Given the description of an element on the screen output the (x, y) to click on. 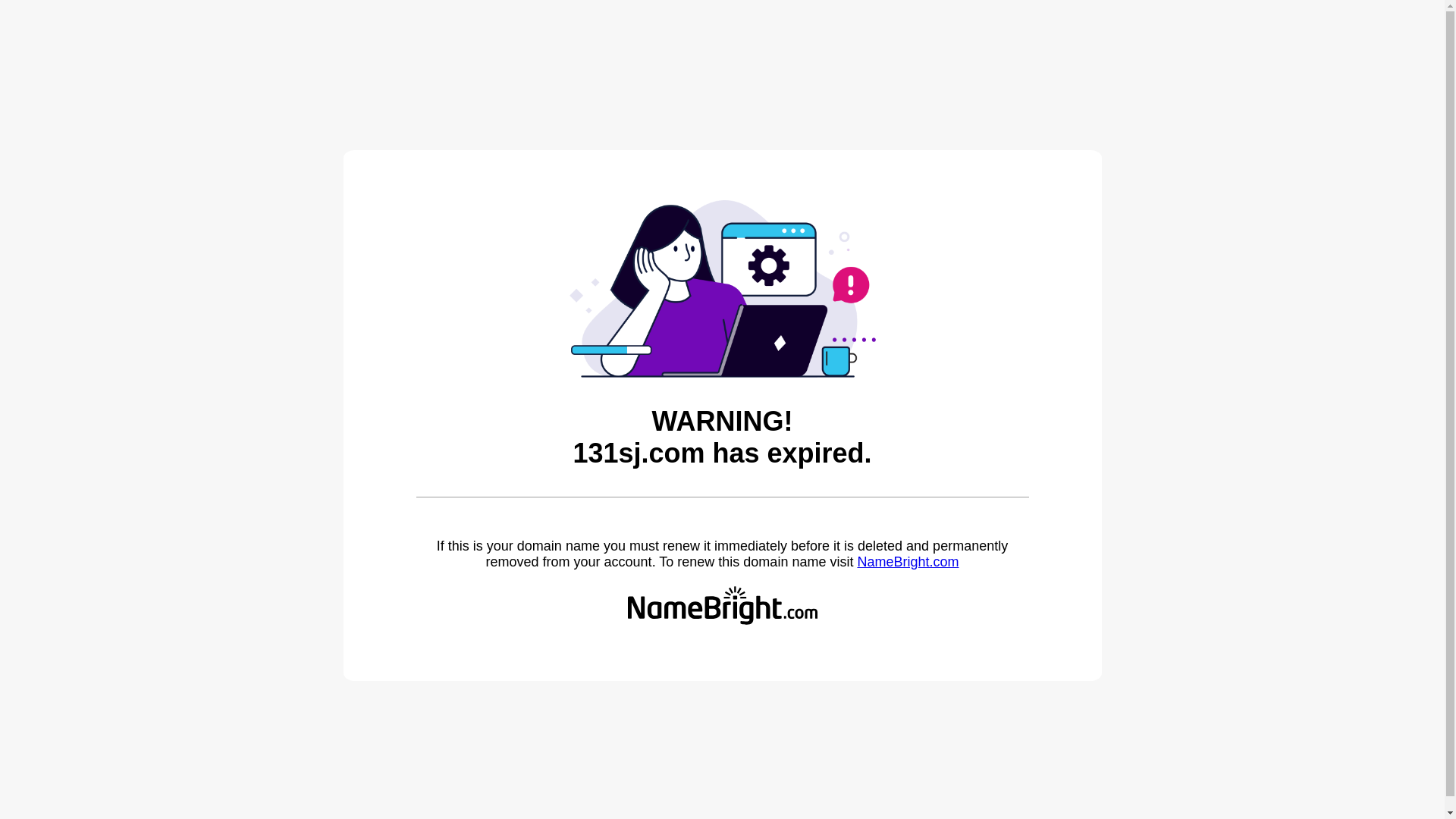
NameBright.com Element type: text (907, 561)
